Given the description of an element on the screen output the (x, y) to click on. 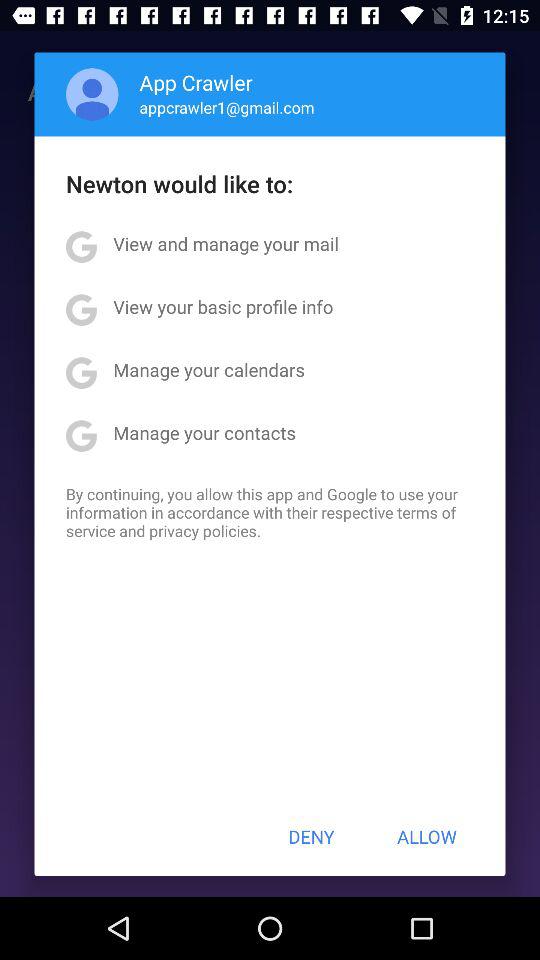
turn on the app above the newton would like item (226, 107)
